Given the description of an element on the screen output the (x, y) to click on. 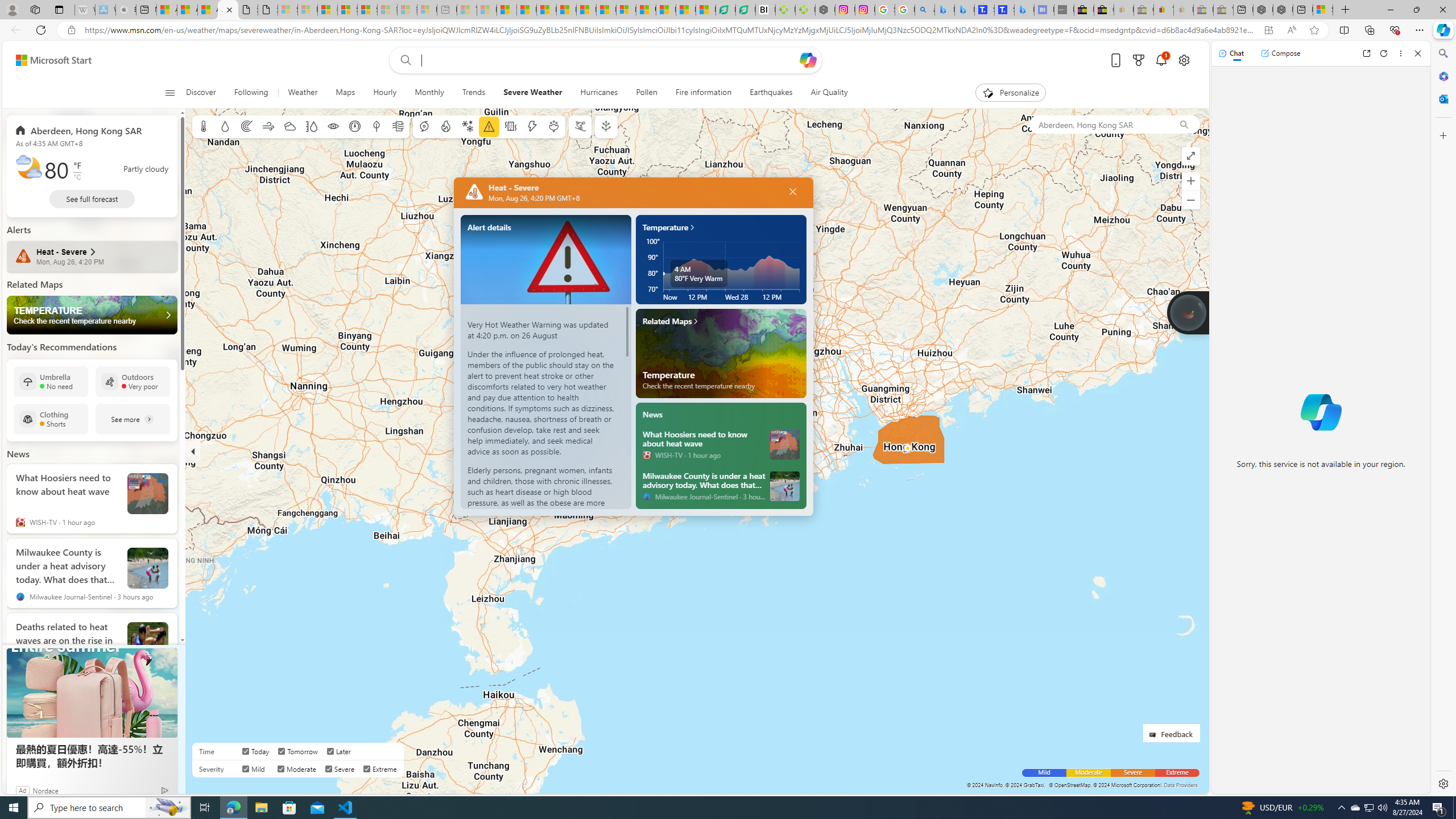
Nordace - Summer Adventures 2024 (1282, 9)
Foo BAR | Trusted Community Engagement and Contributions (606, 9)
Sea level pressure (355, 126)
Drinking tea every day is proven to delay biological aging (565, 9)
Aberdeen, Hong Kong SAR severe weather | Microsoft Weather (227, 9)
Safety in Our Products - Google Safety Center (884, 9)
Press Room - eBay Inc. - Sleeping (1203, 9)
Marine life - MSN - Sleeping (486, 9)
Aberdeen, Hong Kong SAR (79, 130)
Hurricanes (598, 92)
Zoom in (1190, 180)
